Given the description of an element on the screen output the (x, y) to click on. 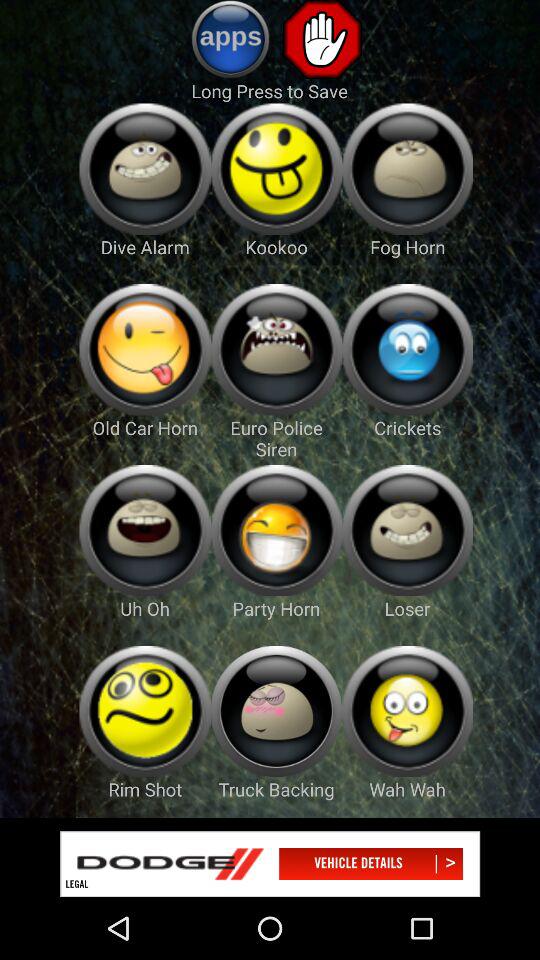
old car horn button (144, 349)
